Given the description of an element on the screen output the (x, y) to click on. 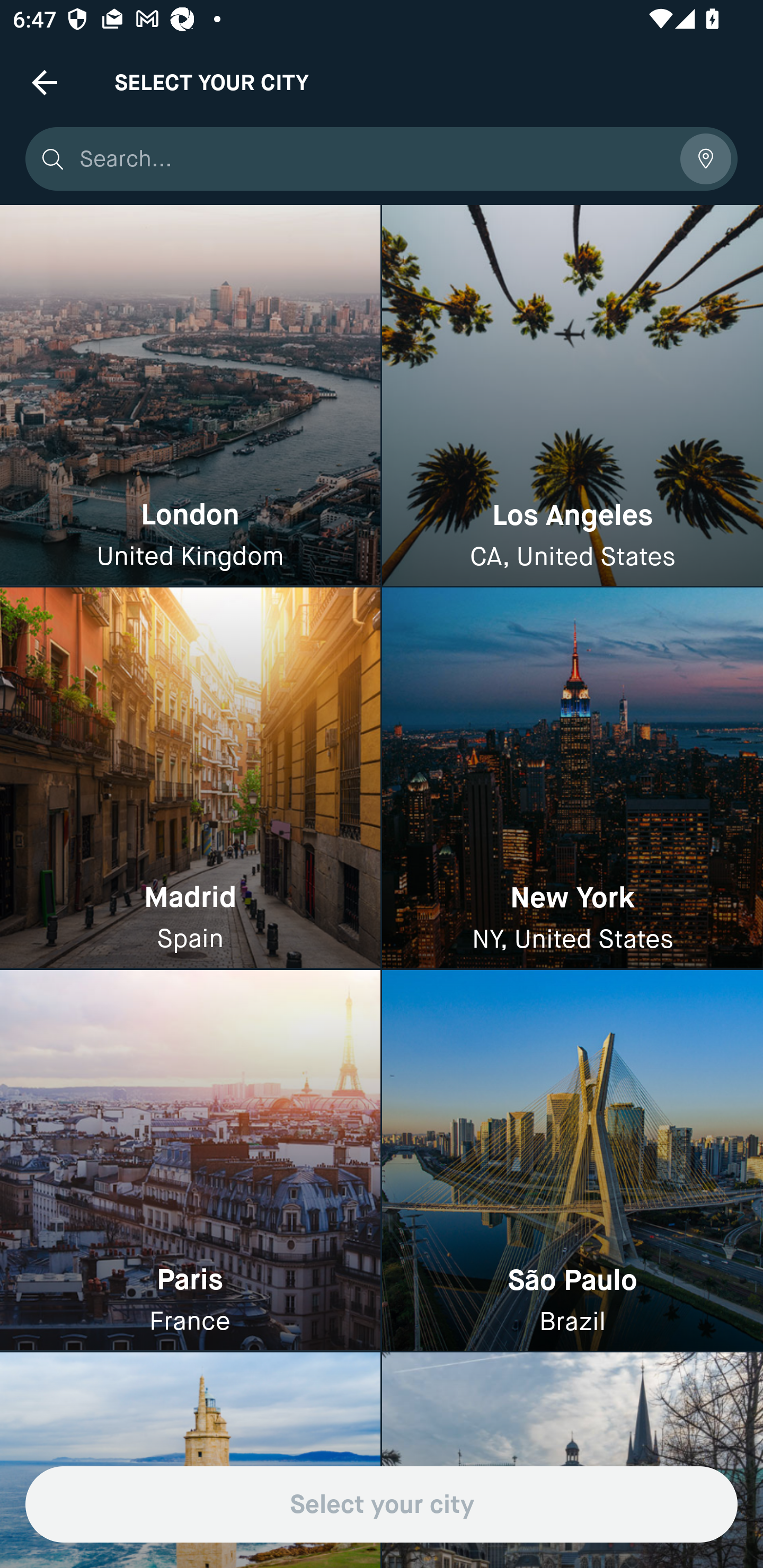
Navigate up (44, 82)
Search... (373, 159)
London United Kingdom (190, 395)
Los Angeles CA, United States (572, 395)
Madrid Spain (190, 778)
New York NY, United States (572, 778)
Paris France (190, 1160)
São Paulo Brazil (572, 1160)
Select your city (381, 1504)
